Given the description of an element on the screen output the (x, y) to click on. 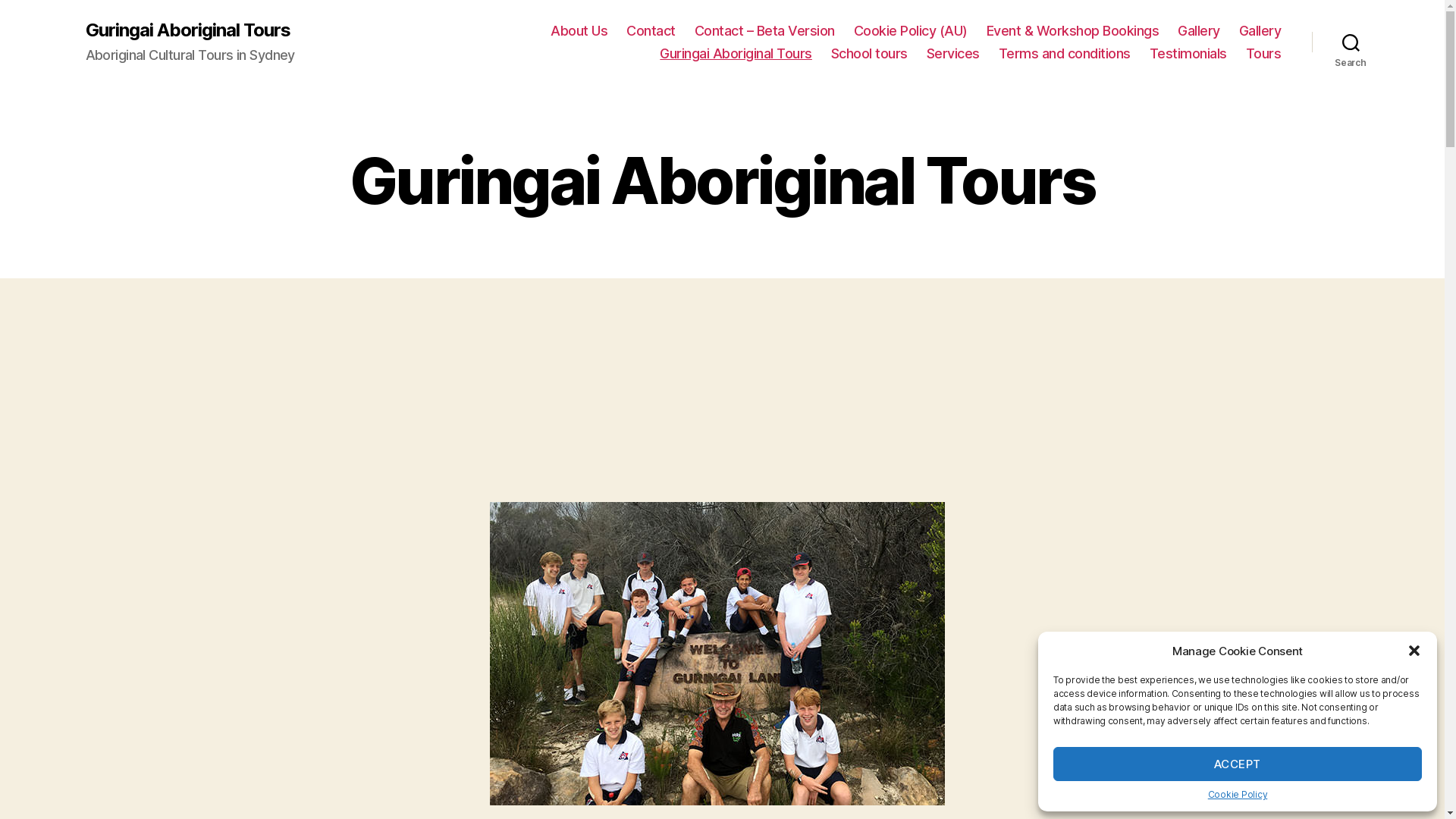
Gallery Element type: text (1260, 30)
Cookie Policy (AU) Element type: text (910, 30)
Services Element type: text (952, 53)
School tours Element type: text (869, 53)
Contact Element type: text (650, 30)
Guringai Aboriginal Tours Element type: text (186, 30)
Testimonials Element type: text (1187, 53)
About Us Element type: text (578, 30)
Cookie Policy Element type: text (1237, 794)
Event & Workshop Bookings Element type: text (1072, 30)
Terms and conditions Element type: text (1064, 53)
Guringai Aboriginal Tours Element type: text (735, 53)
Gallery Element type: text (1198, 30)
ACCEPT Element type: text (1237, 763)
Search Element type: text (1350, 42)
Tours Element type: text (1263, 53)
